Given the description of an element on the screen output the (x, y) to click on. 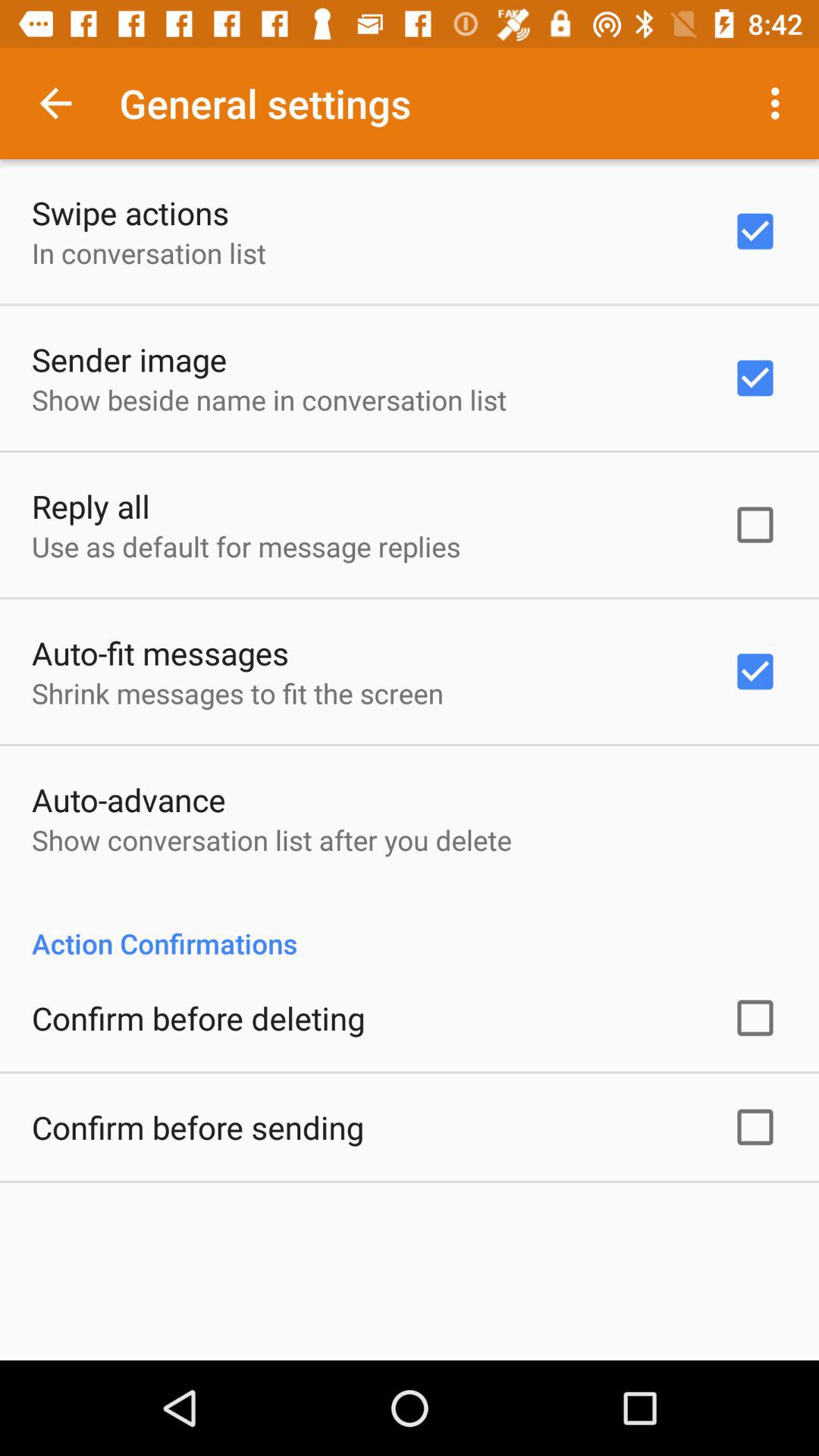
choose app above use as default (90, 505)
